Given the description of an element on the screen output the (x, y) to click on. 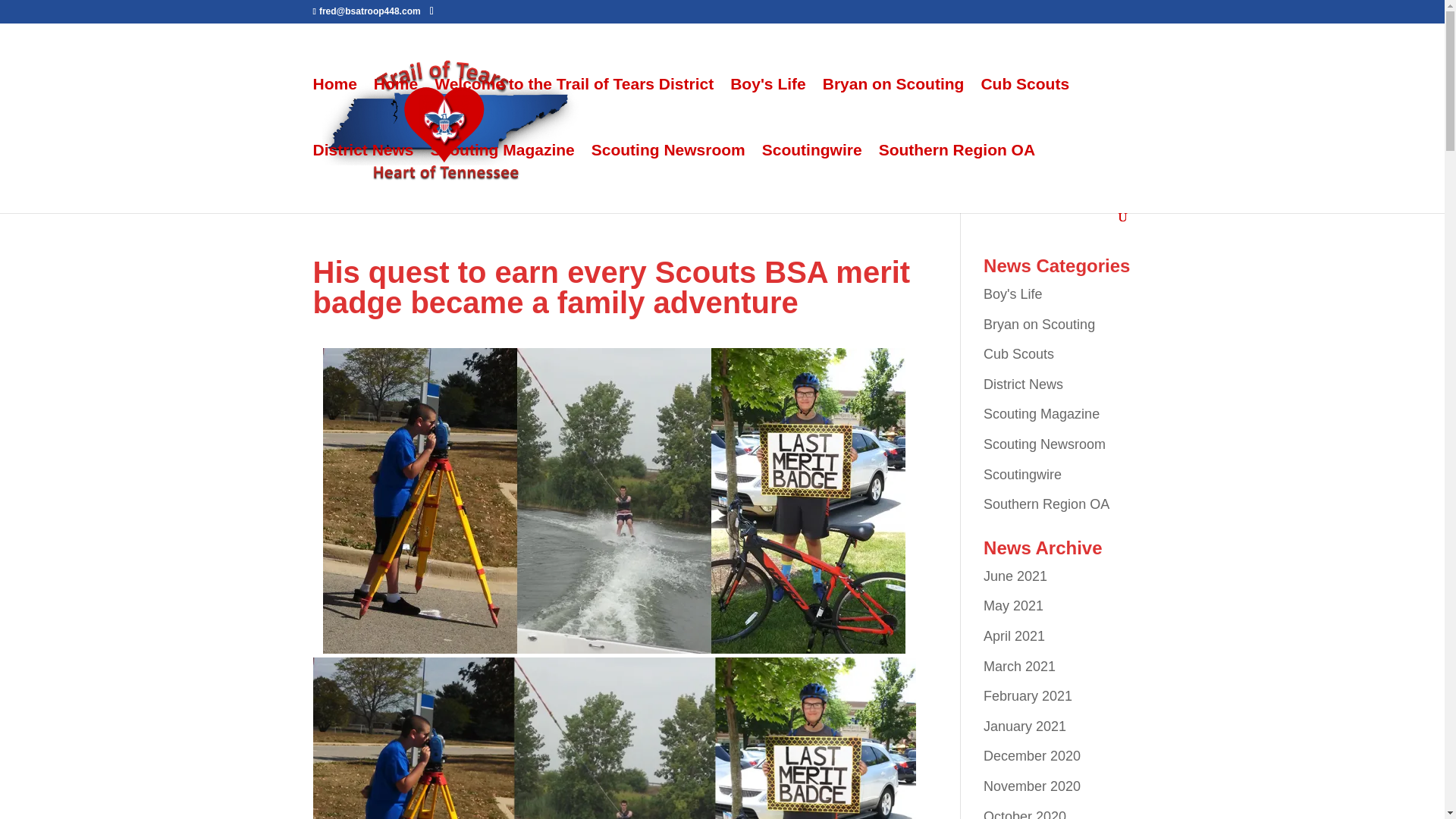
Boy's Life (1013, 294)
Cub Scouts (1019, 353)
May 2021 (1013, 605)
June 2021 (1015, 575)
Bryan on Scouting (892, 111)
Cub Scouts (1023, 111)
Bryan on Scouting (1039, 324)
Southern Region OA (1046, 503)
Southern Region OA (957, 177)
Scouting Magazine (502, 177)
Boy's Life (768, 111)
Scoutingwire (811, 177)
District News (1023, 384)
Scouting Newsroom (1044, 444)
District News (363, 177)
